Given the description of an element on the screen output the (x, y) to click on. 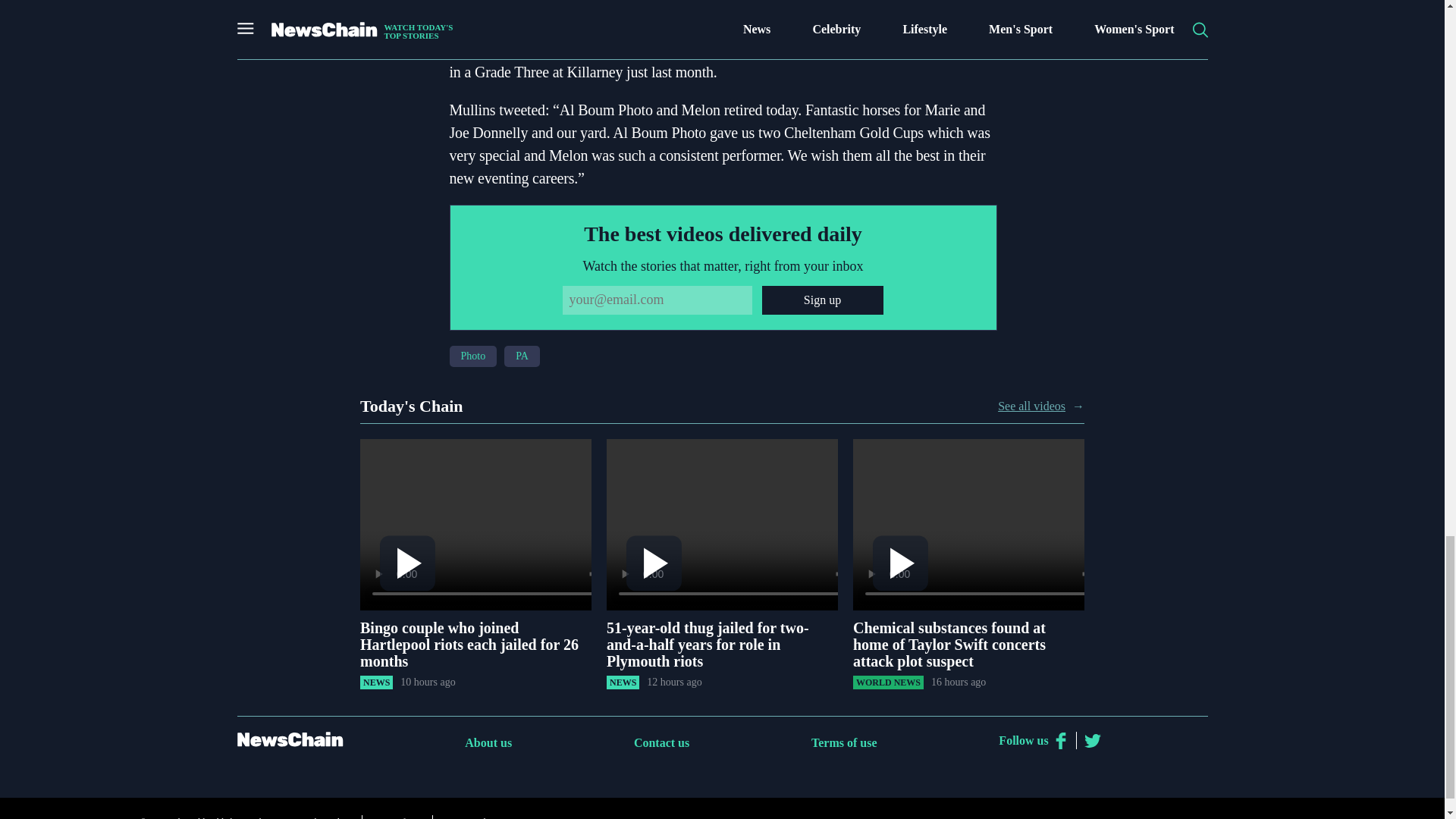
About us (488, 742)
Sign up (822, 299)
NEWS (376, 682)
Sign up (822, 299)
Cookie Policy (324, 816)
WORLD NEWS (888, 682)
